Given the description of an element on the screen output the (x, y) to click on. 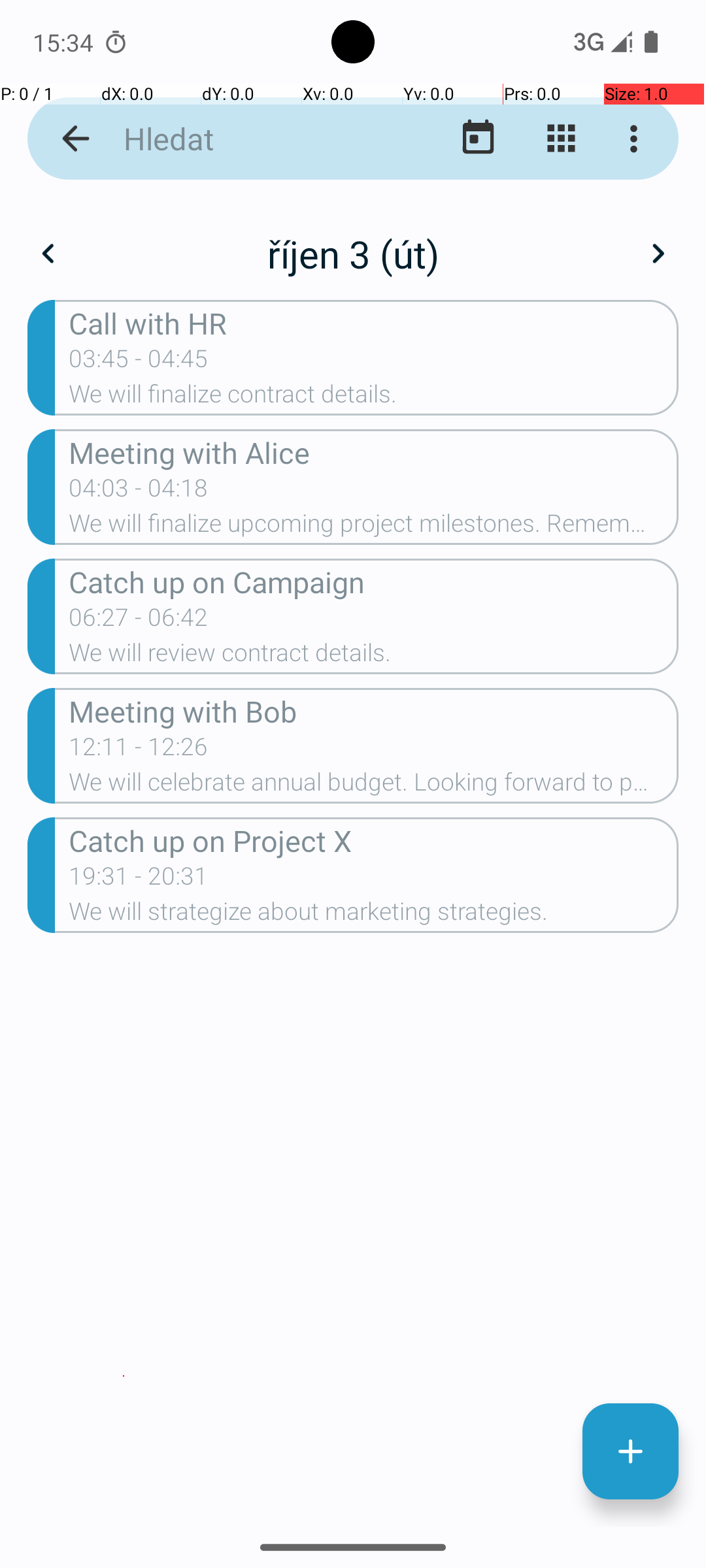
LEDEN Element type: android.widget.TextView (123, 319)
ÚNOR Element type: android.widget.TextView (352, 319)
BŘEZEN Element type: android.widget.TextView (582, 319)
DUBEN Element type: android.widget.TextView (123, 621)
KVĚTEN Element type: android.widget.TextView (352, 621)
ČERVEN Element type: android.widget.TextView (582, 621)
ČERVENEC Element type: android.widget.TextView (123, 923)
SRPEN Element type: android.widget.TextView (352, 923)
ZÁŘÍ Element type: android.widget.TextView (582, 923)
ŘÍJEN Element type: android.widget.TextView (123, 1224)
LISTOPAD Element type: android.widget.TextView (352, 1224)
PROSINEC Element type: android.widget.TextView (582, 1224)
září Element type: android.widget.TextView (352, 239)
říjen 3 (út) Element type: android.widget.TextView (352, 253)
03:45 - 04:45 Element type: android.widget.TextView (137, 362)
We will finalize contract details. Element type: android.widget.TextView (373, 397)
04:03 - 04:18 Element type: android.widget.TextView (137, 491)
We will finalize upcoming project milestones. Remember to confirm attendance. Element type: android.widget.TextView (373, 526)
06:27 - 06:42 Element type: android.widget.TextView (137, 620)
We will review contract details. Element type: android.widget.TextView (373, 656)
12:11 - 12:26 Element type: android.widget.TextView (137, 750)
We will celebrate annual budget. Looking forward to productive discussions. Element type: android.widget.TextView (373, 785)
19:31 - 20:31 Element type: android.widget.TextView (137, 879)
We will strategize about marketing strategies. Element type: android.widget.TextView (373, 914)
